Given the description of an element on the screen output the (x, y) to click on. 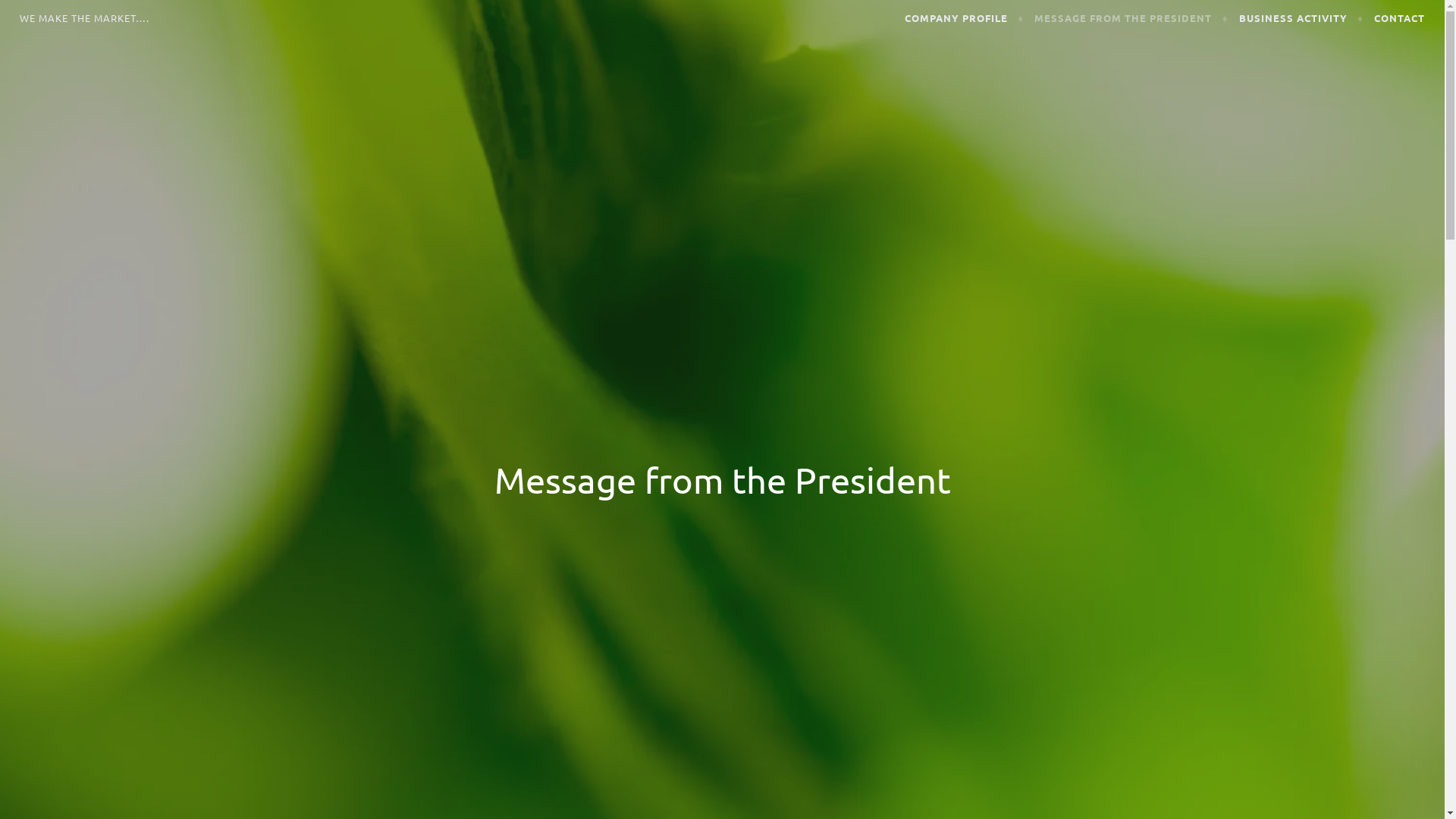
BUSINESS ACTIVITY Element type: text (1301, 17)
MESSAGE FROM THE PRESIDENT Element type: text (1130, 17)
COMPANY PROFILE Element type: text (963, 17)
CONTACT Element type: text (1399, 17)
